Given the description of an element on the screen output the (x, y) to click on. 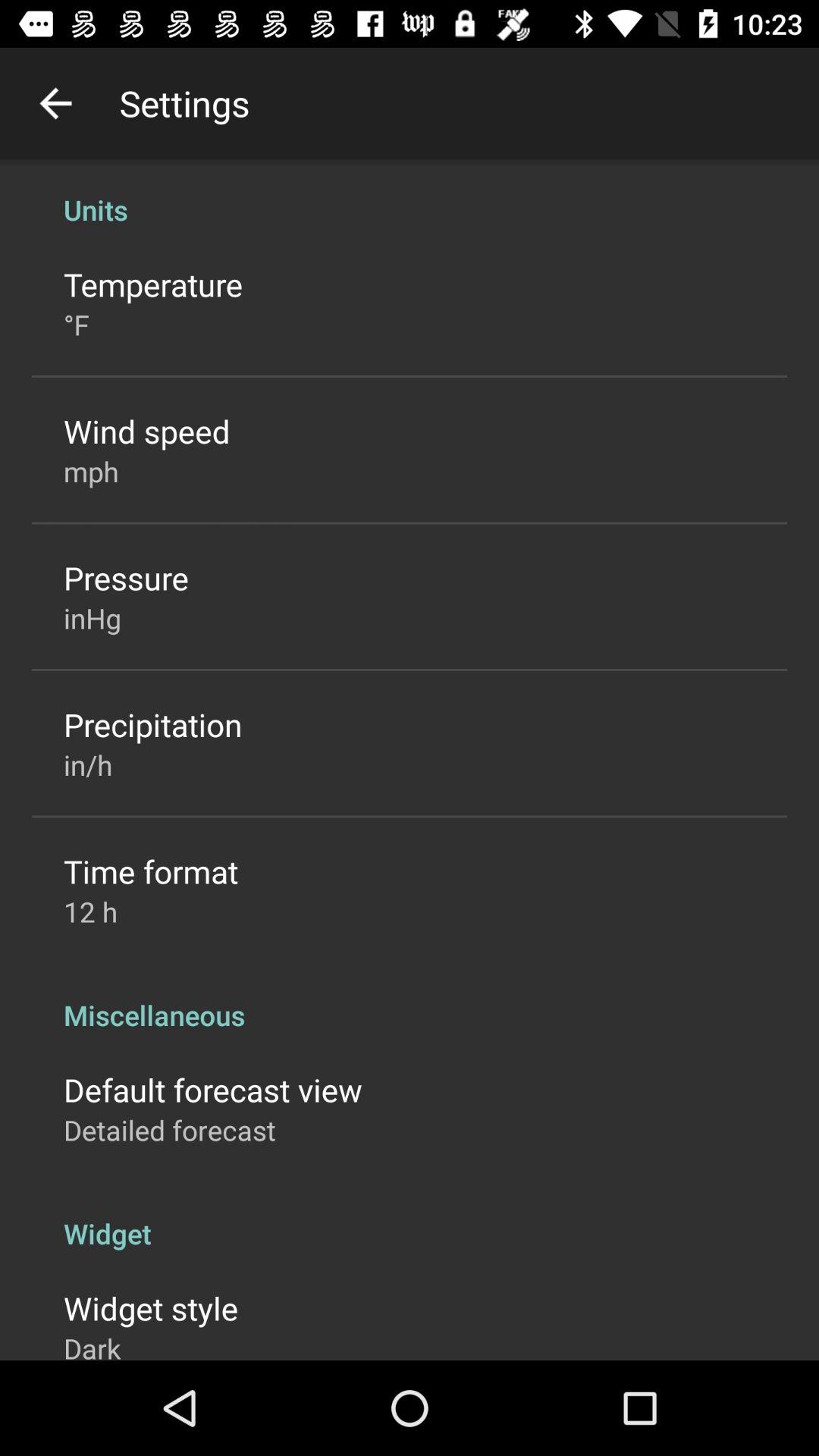
turn on the item below wind speed (90, 471)
